Given the description of an element on the screen output the (x, y) to click on. 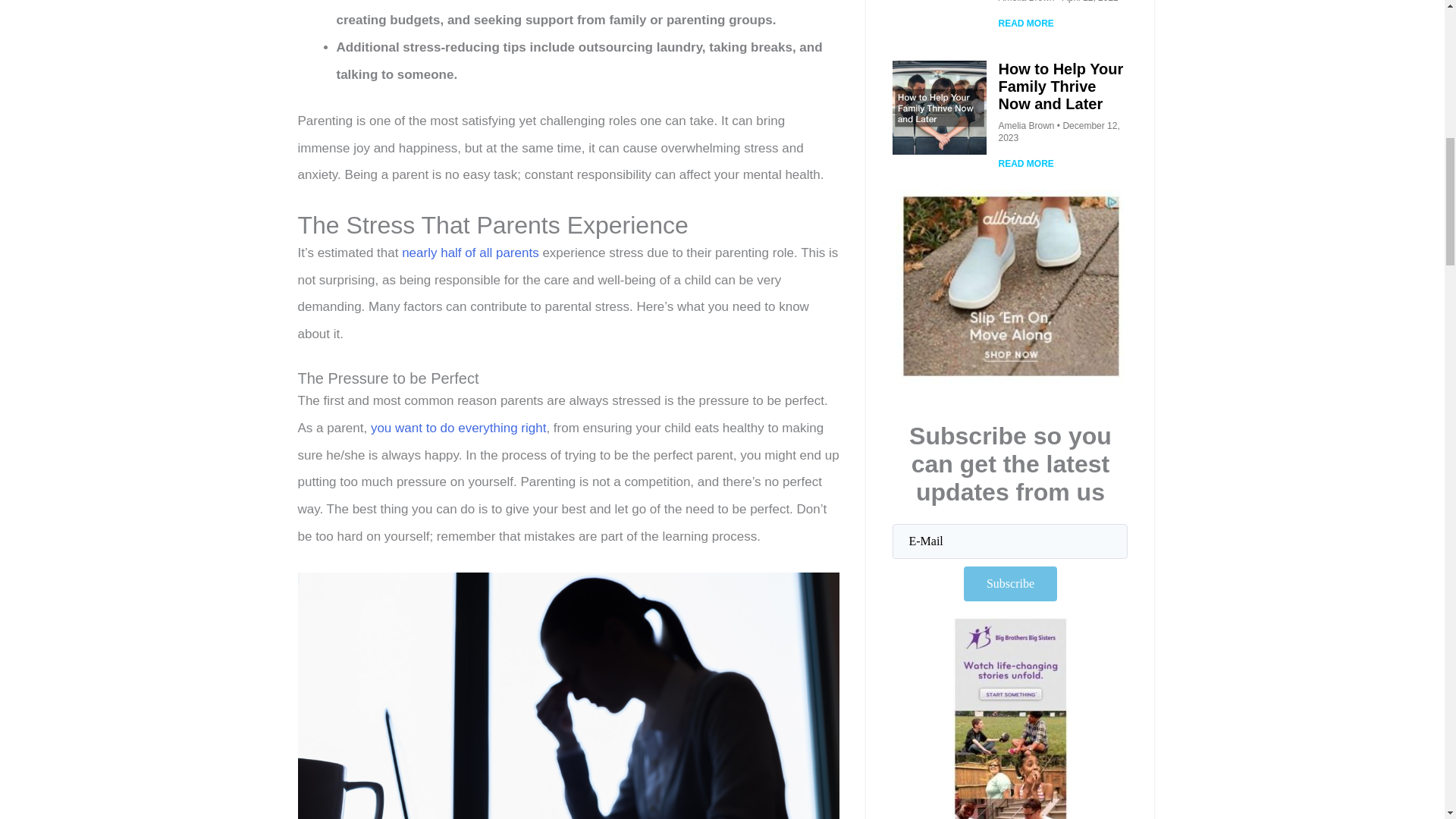
READ MORE (1024, 163)
you want to do everything right (459, 427)
Stressed woman (568, 695)
READ MORE (1024, 23)
nearly half of all parents (469, 252)
How to Help Your Family Thrive Now and Later (1059, 86)
